Given the description of an element on the screen output the (x, y) to click on. 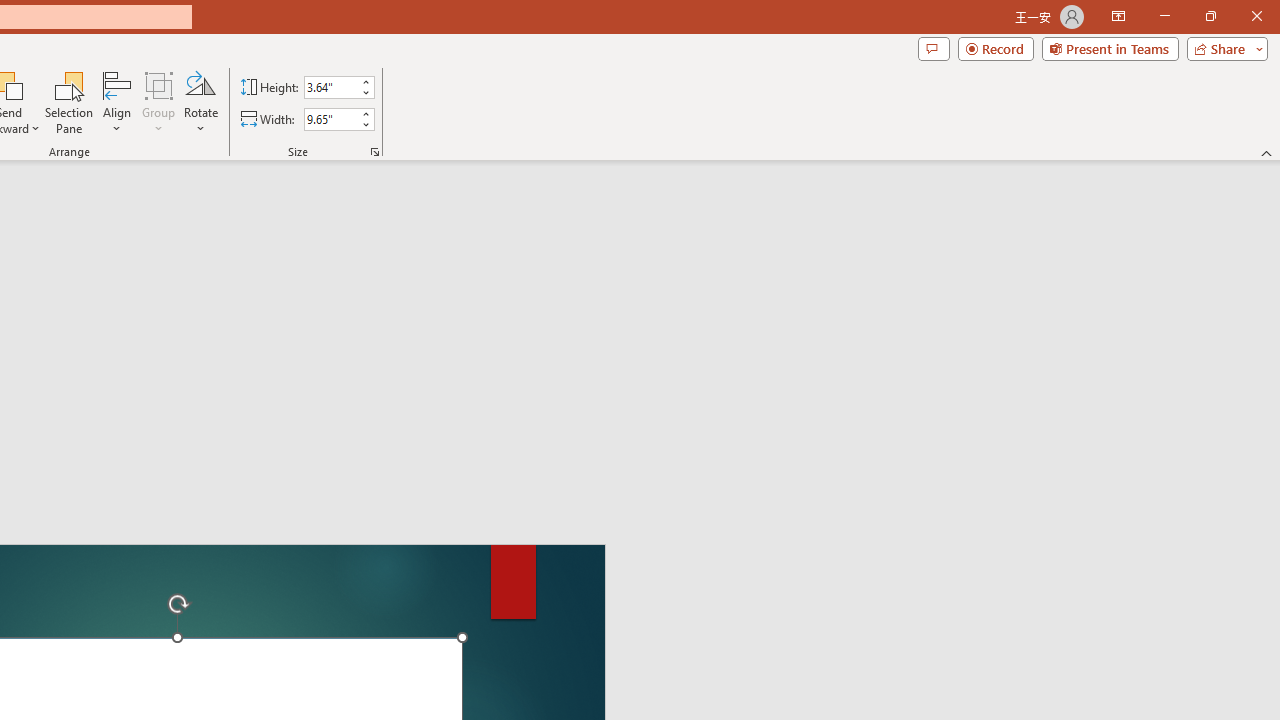
Group (159, 102)
Align (117, 102)
Selection Pane... (69, 102)
